Given the description of an element on the screen output the (x, y) to click on. 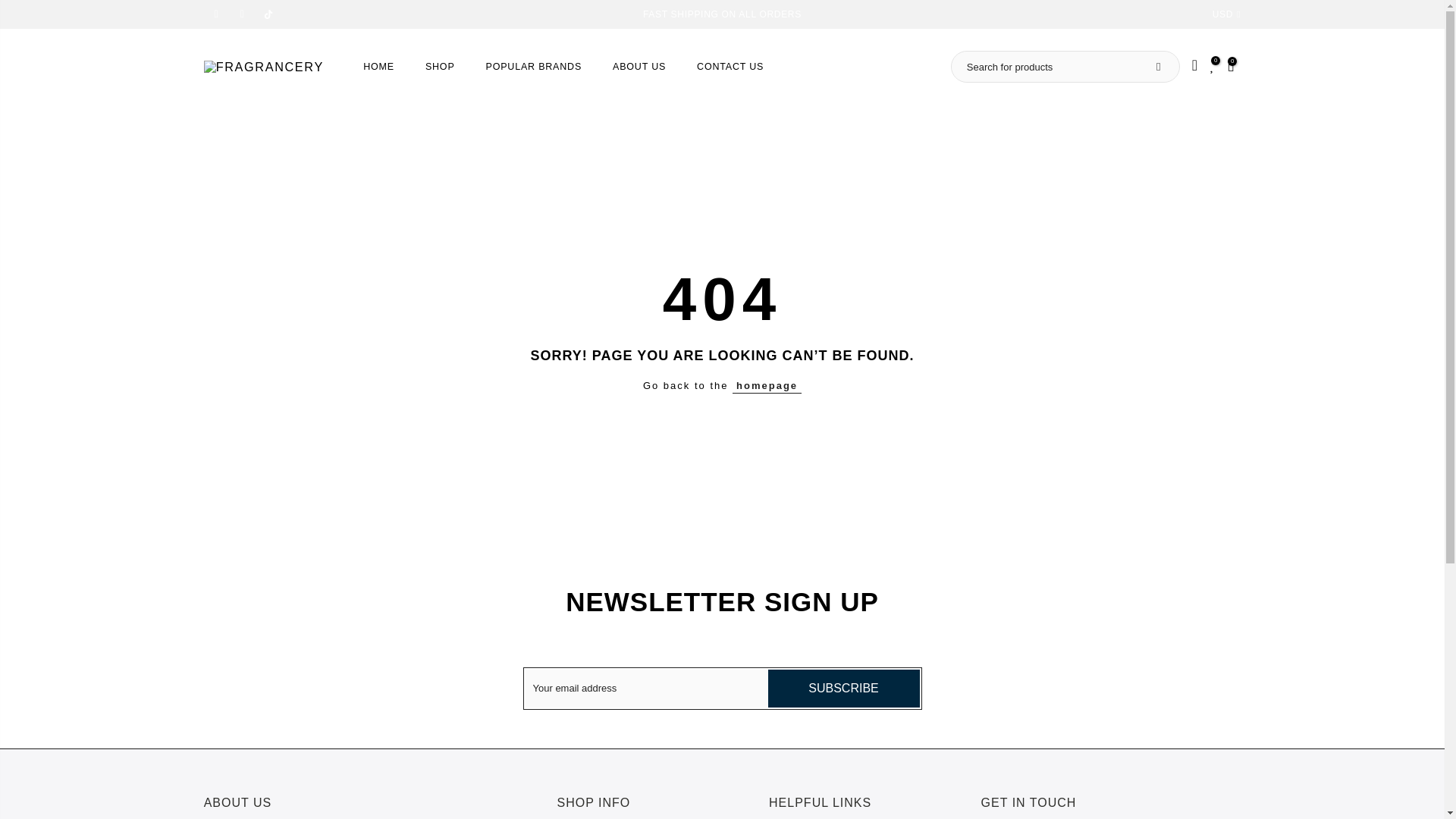
HOME (378, 66)
homepage (767, 385)
SHOP (439, 66)
ABOUT US (638, 66)
SUBSCRIBE (842, 688)
POPULAR BRANDS (533, 66)
0 (1212, 66)
CONTACT US (729, 66)
0 (1230, 66)
